Given the description of an element on the screen output the (x, y) to click on. 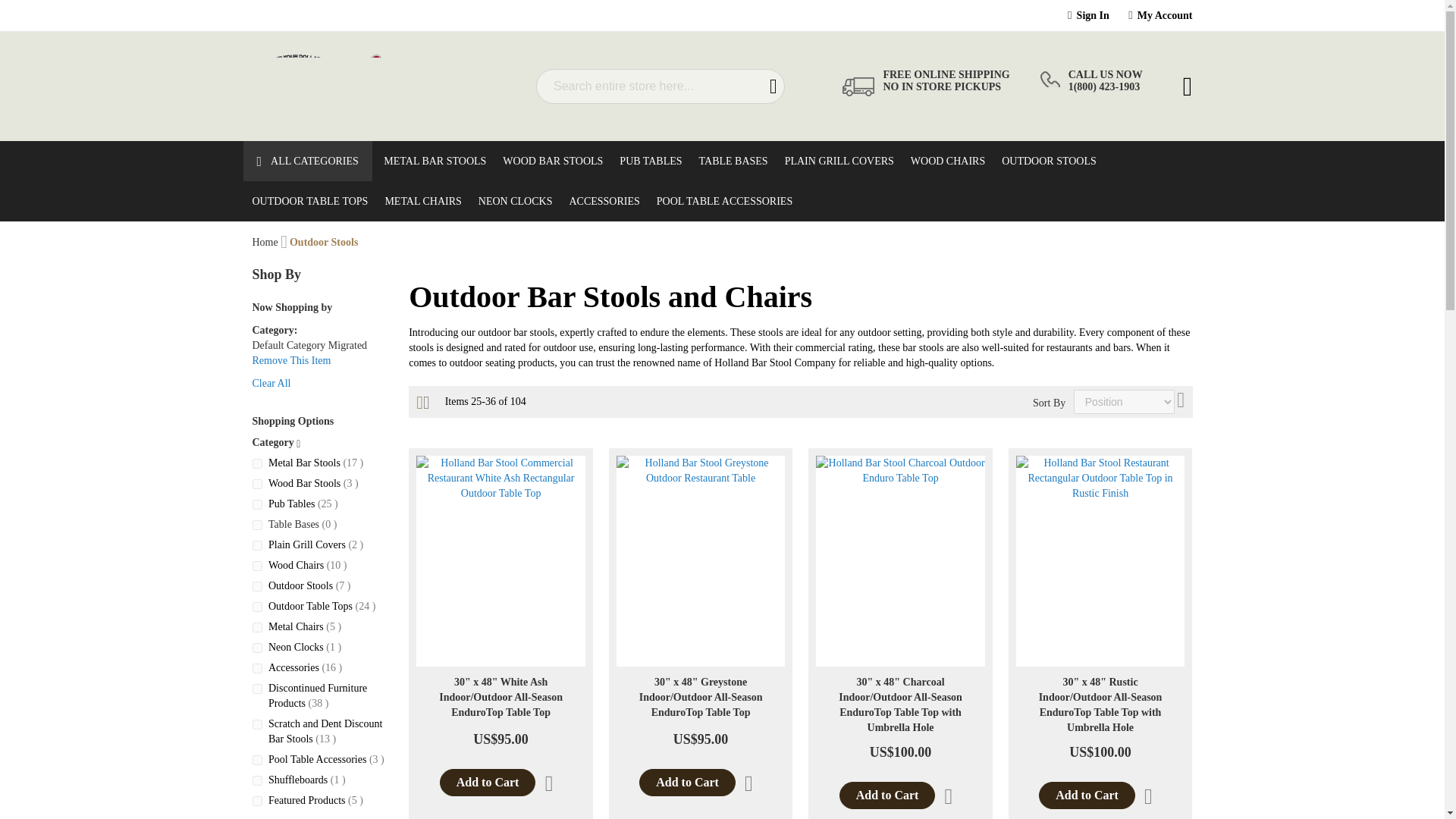
on (256, 483)
on (256, 647)
ALL CATEGORIES (310, 160)
ACCESSORIES (599, 200)
on (256, 586)
on (256, 688)
on (256, 724)
METAL CHAIRS (418, 200)
My Account (1164, 15)
Sign In (1093, 15)
